Given the description of an element on the screen output the (x, y) to click on. 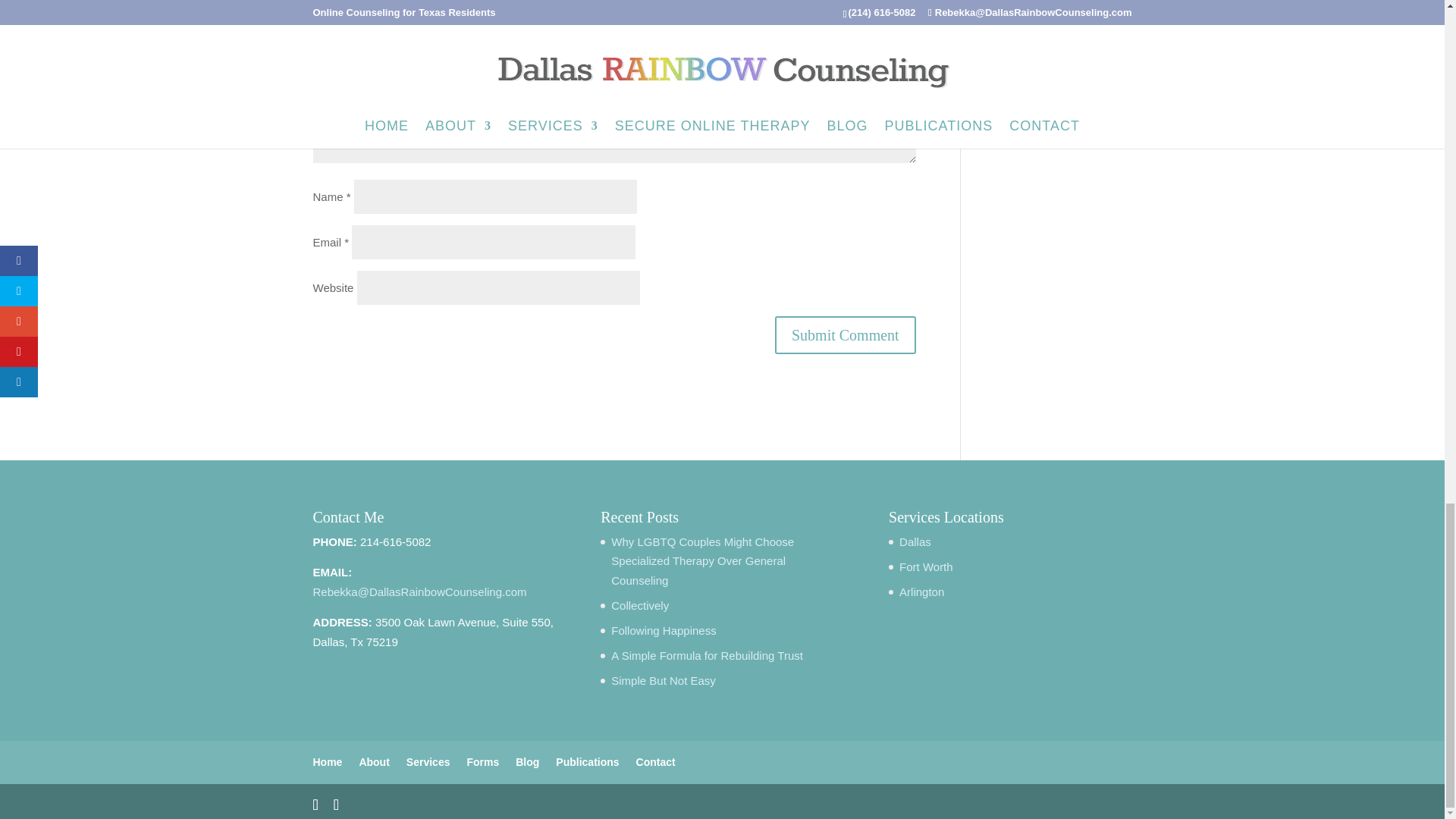
Submit Comment (844, 334)
Following Happiness (663, 630)
Dallas (915, 541)
Fort Worth (926, 566)
Simple But Not Easy (663, 680)
Arlington (921, 591)
A Simple Formula for Rebuilding Trust (707, 655)
Submit Comment (844, 334)
Home (327, 761)
Collectively (639, 604)
